Given the description of an element on the screen output the (x, y) to click on. 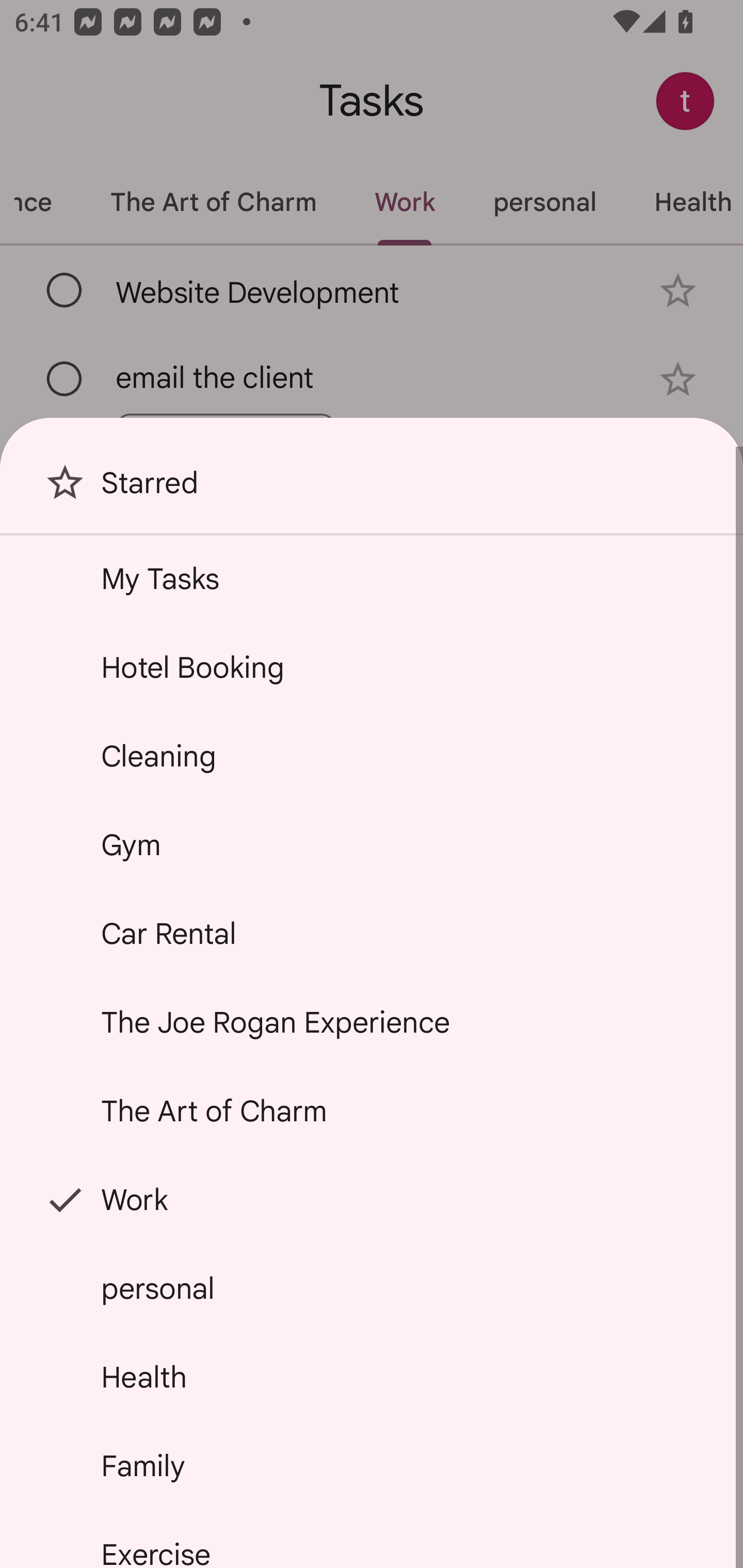
Starred (371, 489)
My Tasks (371, 578)
Hotel Booking (371, 667)
Cleaning (371, 756)
Gym (371, 844)
Car Rental (371, 933)
The Joe Rogan Experience (371, 1022)
The Art of Charm (371, 1110)
Work (371, 1200)
personal (371, 1287)
Health (371, 1377)
Family (371, 1465)
Exercise (371, 1539)
